Given the description of an element on the screen output the (x, y) to click on. 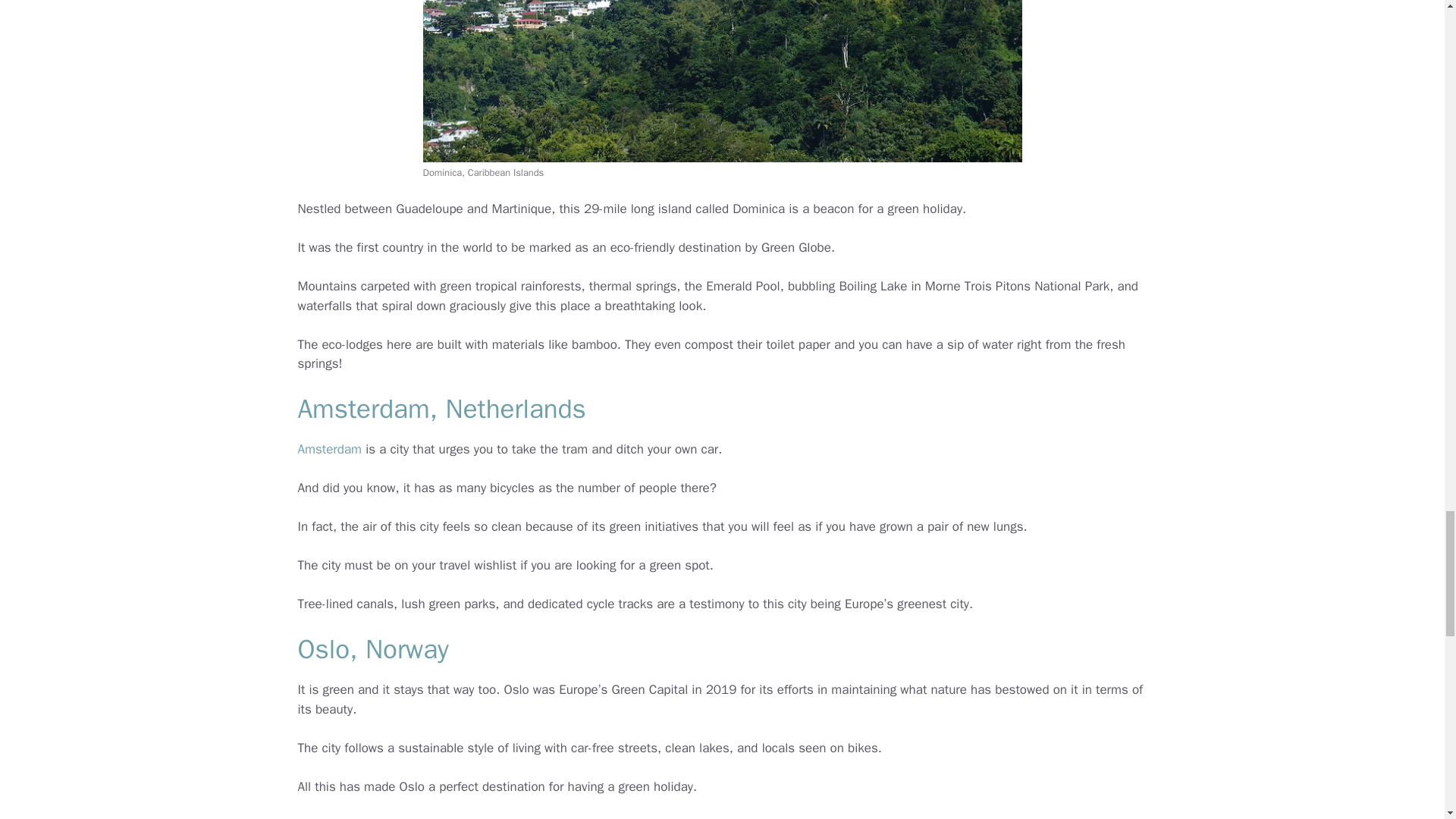
Amsterdam (329, 449)
